Given the description of an element on the screen output the (x, y) to click on. 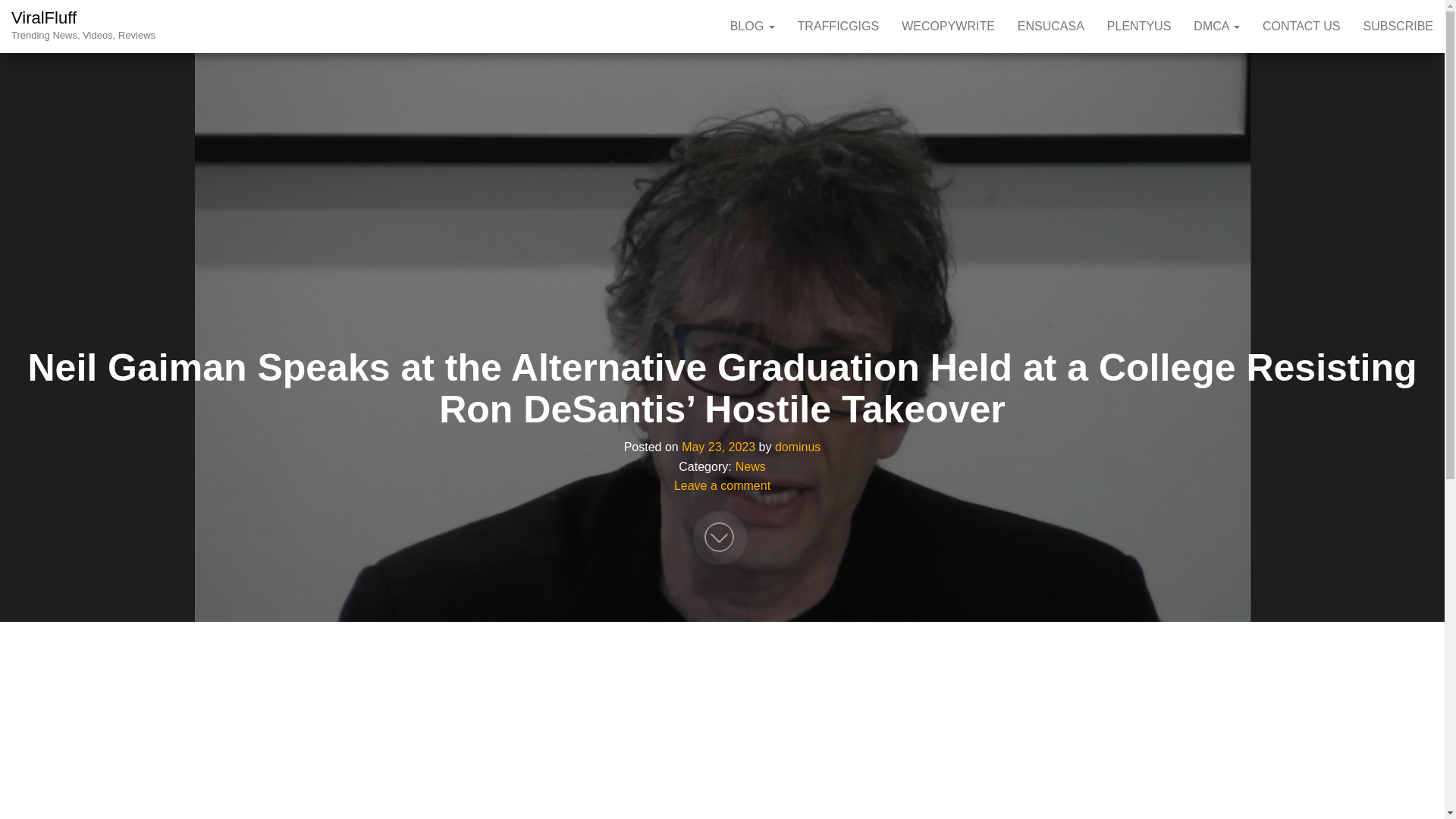
DMCA (1216, 26)
dominus (797, 446)
ViralFluff (44, 17)
BLOG (752, 26)
Leave a comment (722, 486)
WeCopyWrite (947, 26)
Trafficgigs (838, 26)
May 23, 2023 (718, 446)
PLENTYUS (1139, 26)
ENSUCASA (1051, 26)
